Given the description of an element on the screen output the (x, y) to click on. 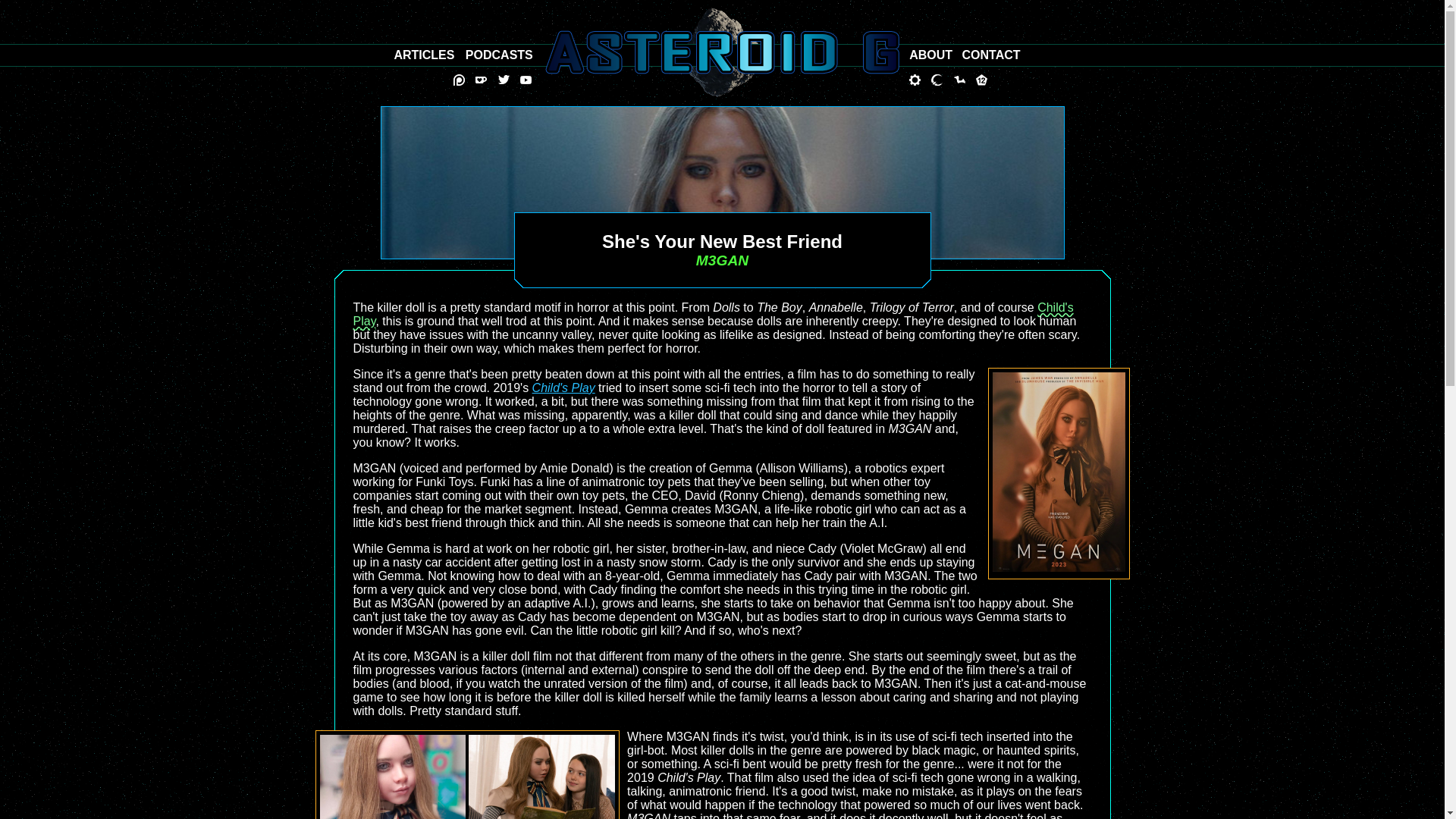
ABOUT (930, 54)
PODCASTS (498, 54)
Achive (423, 55)
Child's Play (563, 387)
Child's Play (713, 314)
ARTICLES (423, 54)
CONTACT (991, 54)
